Given the description of an element on the screen output the (x, y) to click on. 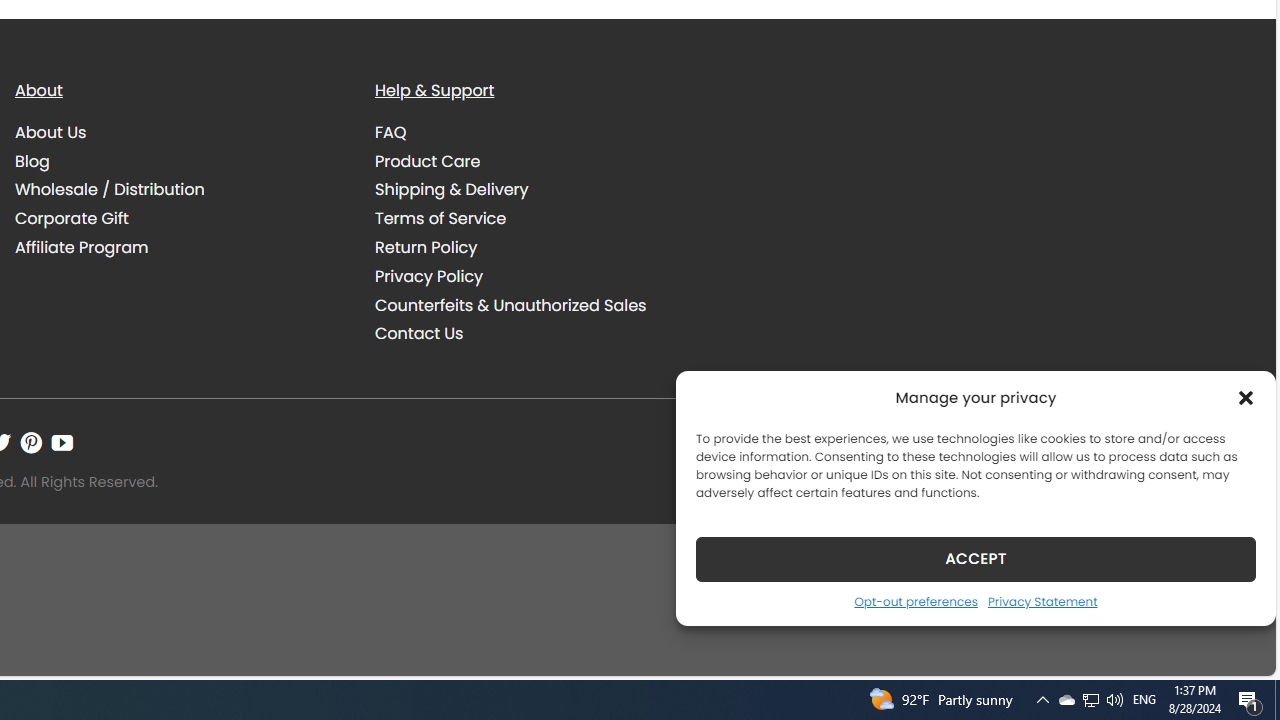
Return Policy (540, 247)
Shipping & Delivery (451, 189)
Privacy Statement (1042, 601)
Product Care (540, 161)
Product Care (428, 160)
Counterfeits & Unauthorized Sales (510, 304)
Contact Us (540, 334)
Counterfeits & Unauthorized Sales (540, 305)
Affiliate Program (81, 247)
About Us (51, 132)
Privacy Policy (429, 276)
Wholesale / Distribution (180, 190)
Terms of Service (540, 218)
Affiliate Program (180, 247)
Opt-out preferences (915, 601)
